Given the description of an element on the screen output the (x, y) to click on. 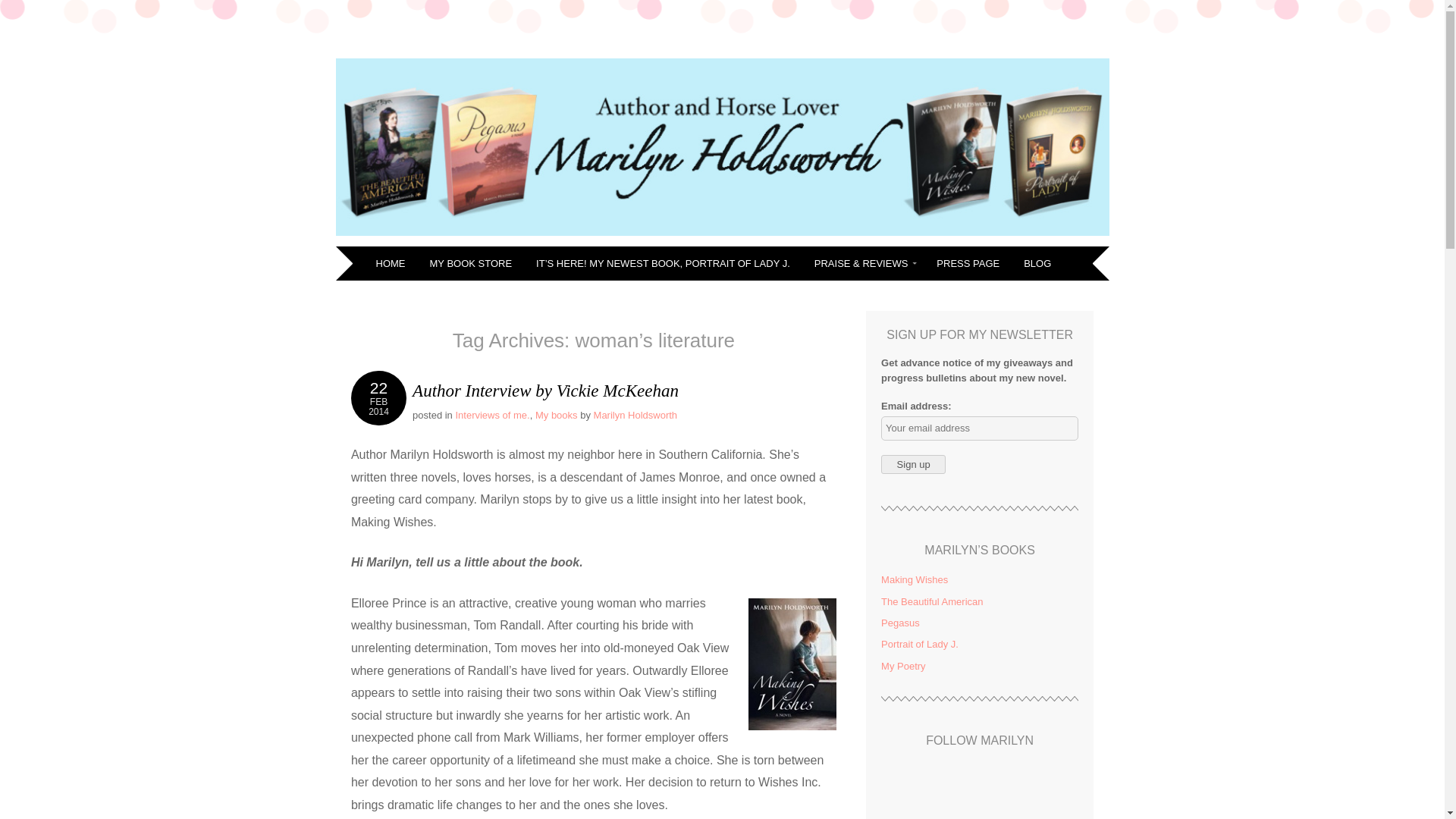
Marilyn Holdsworth (550, 61)
HOME (377, 397)
3:18 pm (392, 263)
My Poetry (377, 397)
Sign up (903, 665)
My books (912, 464)
MY BOOK STORE (556, 414)
Marilyn Holdsworth (473, 263)
Author Interview by Vickie McKeehan (721, 236)
The Beautiful American (545, 390)
Interviews of me. (931, 601)
View all posts by Marilyn Holdsworth (491, 414)
Making Wishes (636, 414)
Portrait of Lady J. (913, 579)
